Given the description of an element on the screen output the (x, y) to click on. 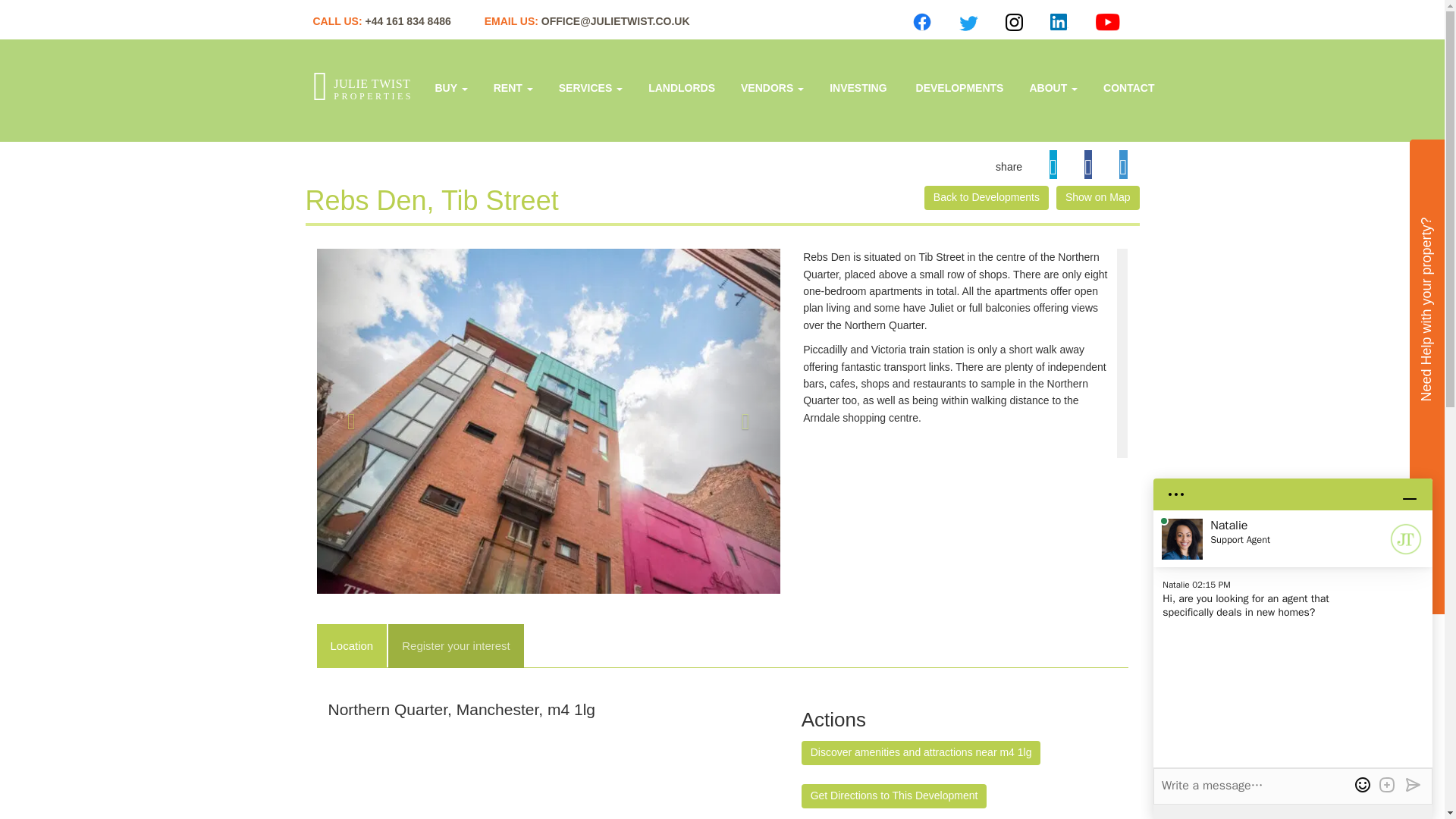
VENDORS (772, 87)
 DEVELOPMENTS (957, 87)
SERVICES (590, 87)
LANDLORDS (366, 89)
Services (681, 87)
go to homepage (590, 87)
